Given the description of an element on the screen output the (x, y) to click on. 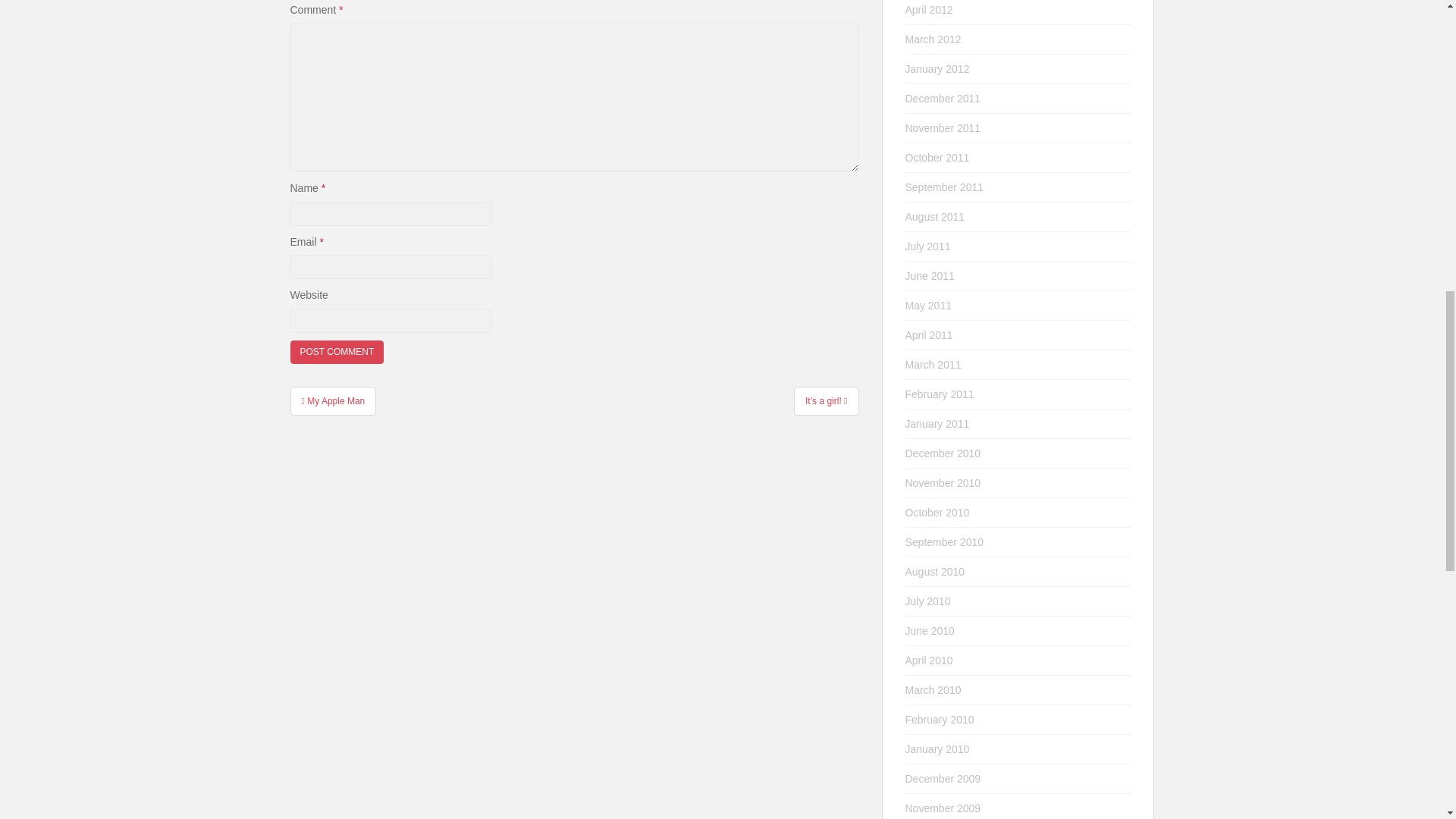
Post Comment (336, 351)
January 2012 (937, 69)
April 2012 (929, 9)
November 2011 (943, 128)
December 2011 (943, 98)
My Apple Man (332, 400)
Post Comment (336, 351)
March 2012 (932, 39)
